Given the description of an element on the screen output the (x, y) to click on. 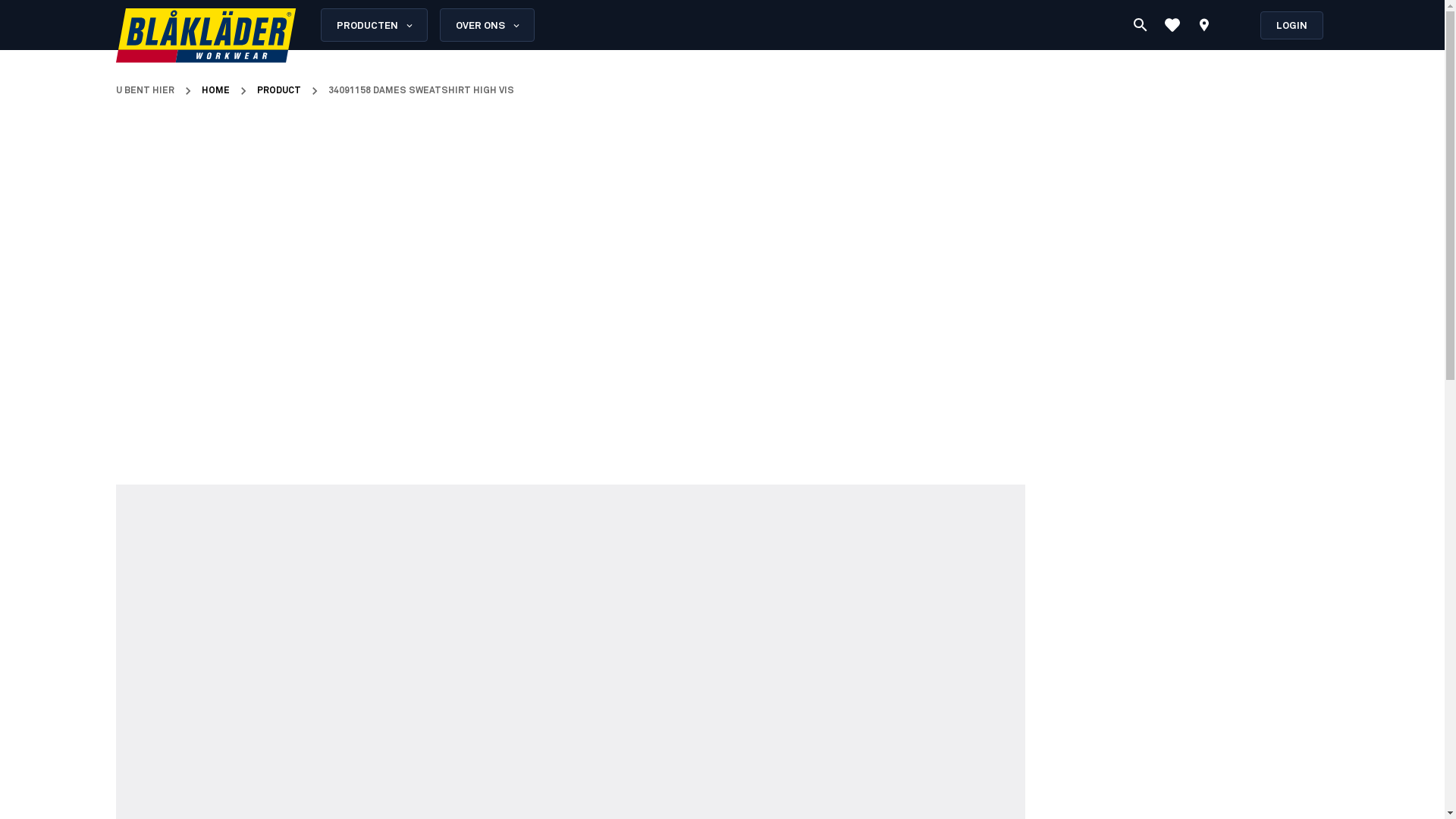
PRODUCT Element type: text (278, 90)
LOGIN Element type: text (1291, 24)
HOME Element type: text (215, 90)
PRODUCTEN Element type: text (373, 24)
OVER ONS Element type: text (486, 24)
